Given the description of an element on the screen output the (x, y) to click on. 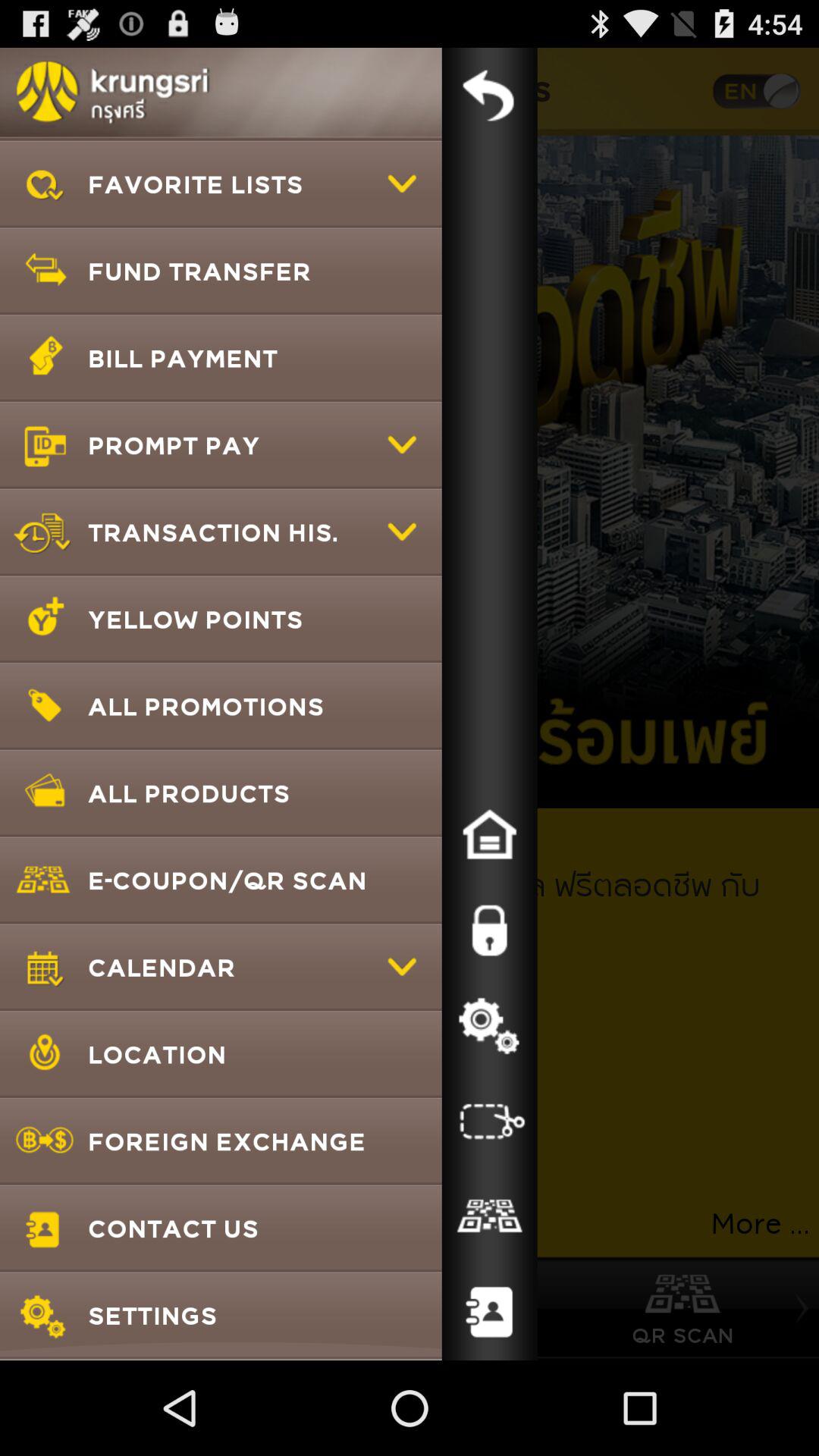
go to settings (489, 1025)
